Given the description of an element on the screen output the (x, y) to click on. 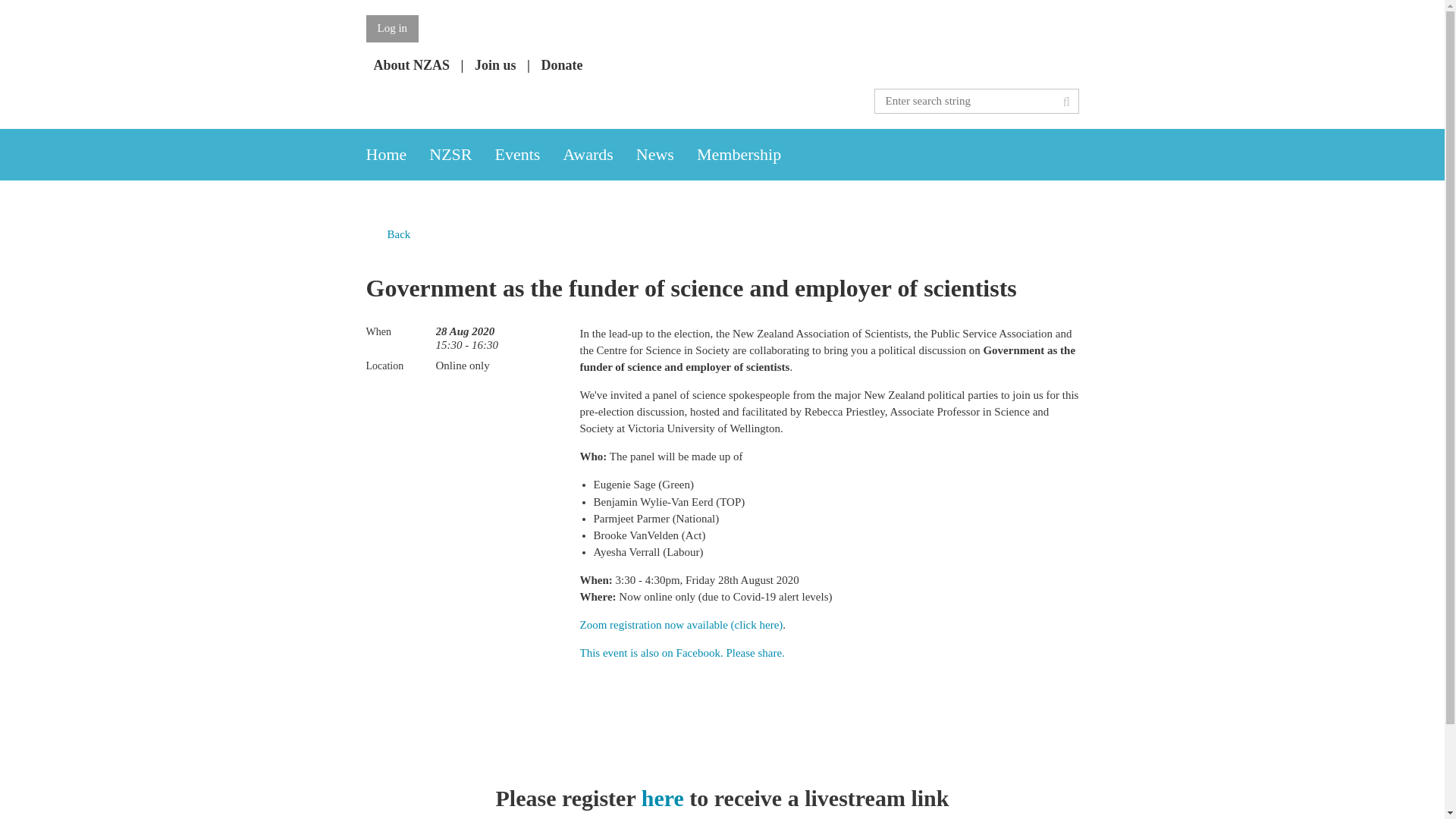
Membership (750, 154)
Home (397, 154)
About NZAS (410, 65)
Events (529, 154)
NZSR (462, 154)
Log in (392, 28)
NZSR (462, 154)
Join us (495, 65)
About NZAS (410, 65)
Events (529, 154)
